Given the description of an element on the screen output the (x, y) to click on. 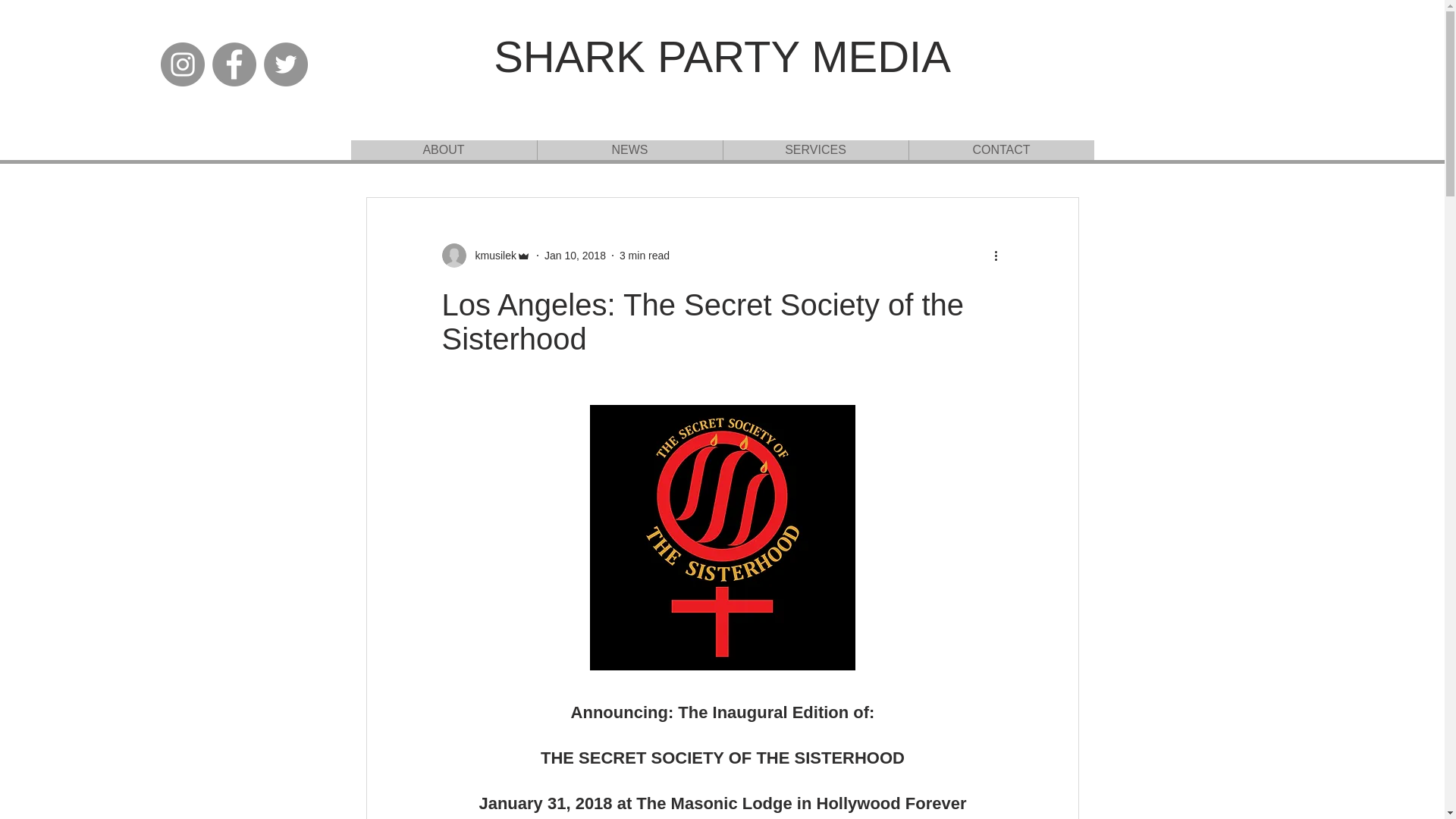
ABOUT (442, 149)
CONTACT (1001, 149)
3 min read (644, 254)
kmusilek (490, 254)
NEWS (629, 149)
SERVICES (814, 149)
Jan 10, 2018 (574, 254)
